Given the description of an element on the screen output the (x, y) to click on. 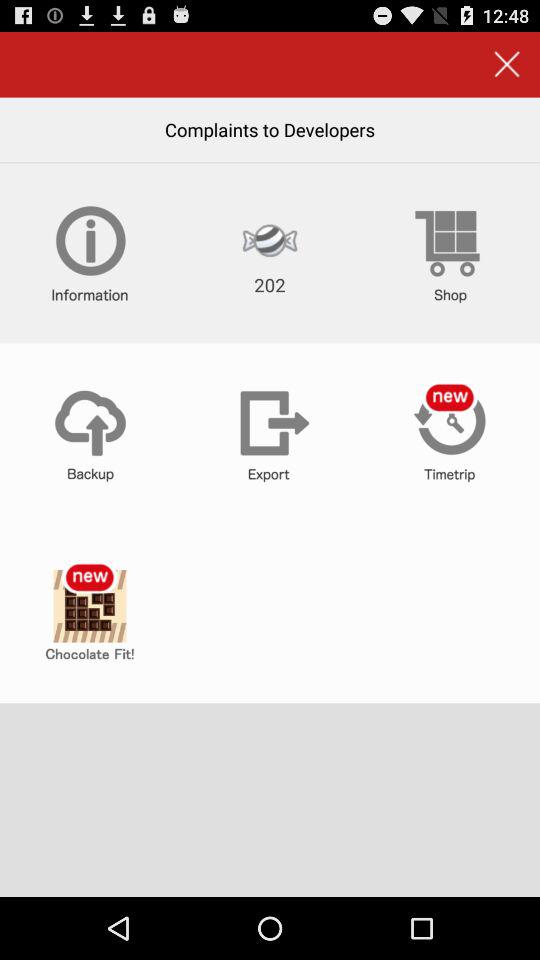
view shopping page (450, 253)
